Given the description of an element on the screen output the (x, y) to click on. 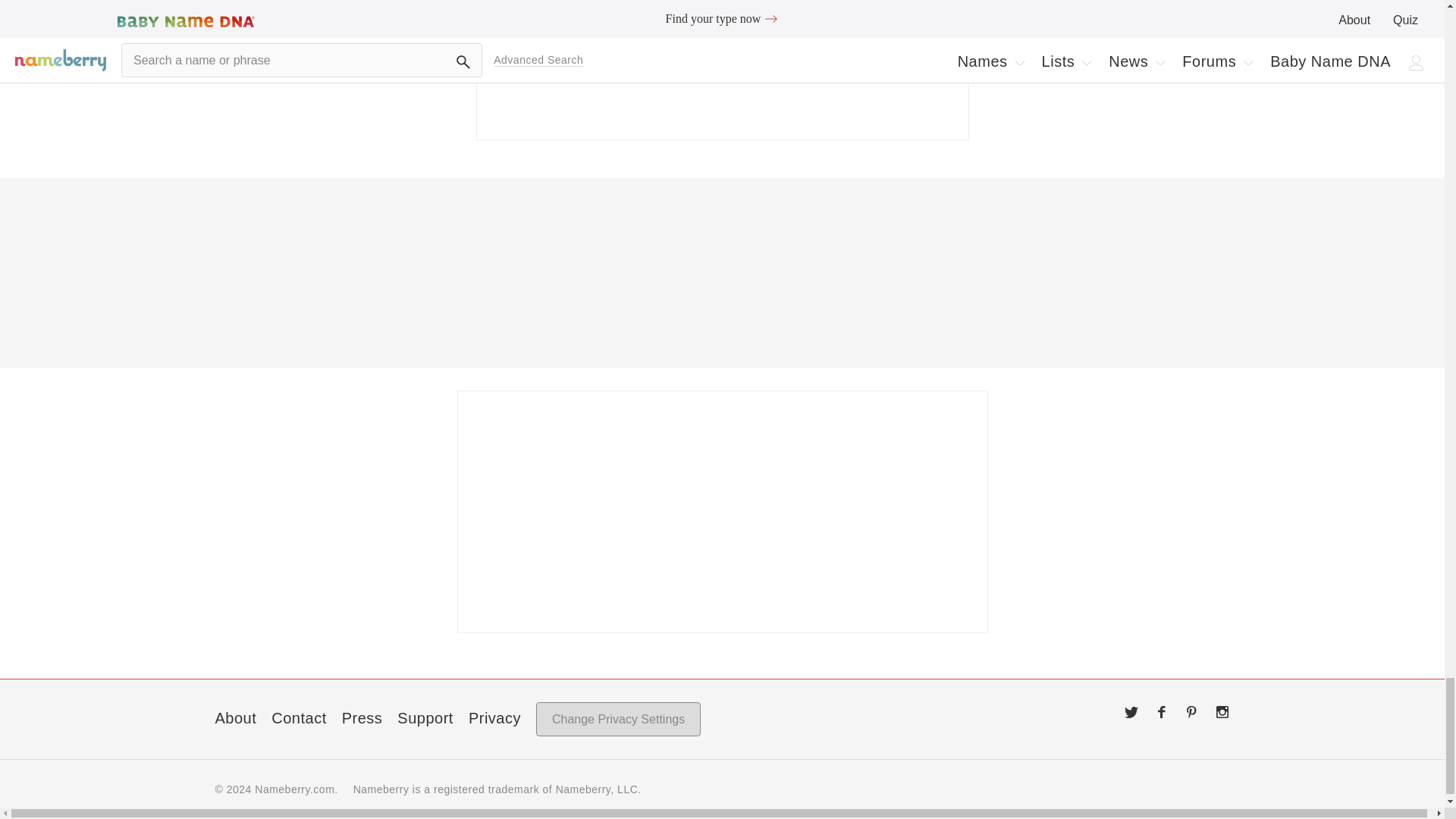
Facebook (1161, 711)
Sign up for the Nameberry Newsletter (722, 511)
Twitter (1131, 711)
Pinterest (1192, 711)
Instagram (1222, 711)
Sign up for the Nameberry Newsletter (722, 70)
